Given the description of an element on the screen output the (x, y) to click on. 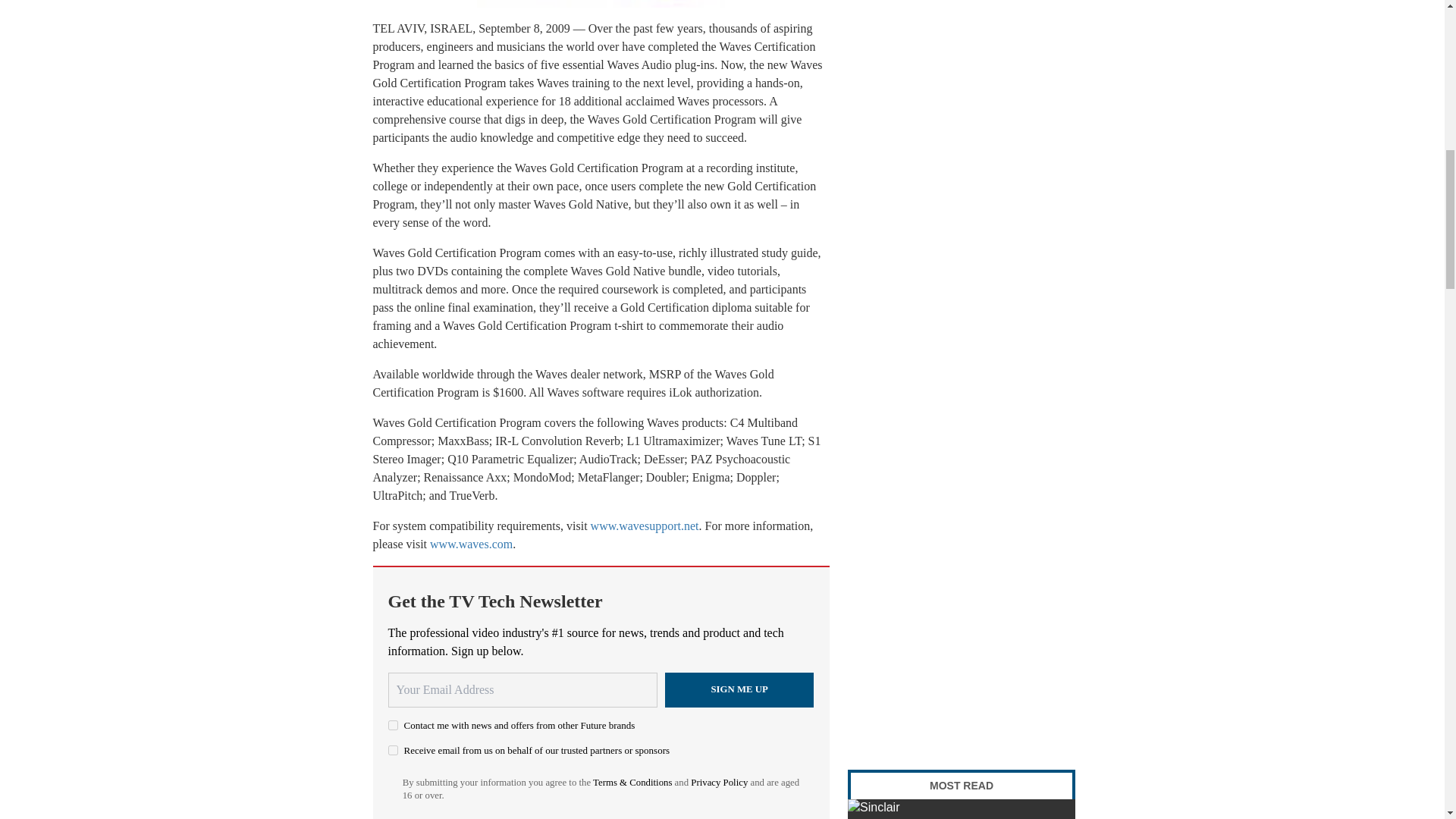
Sign me up (739, 689)
on (392, 725)
Sign me up (739, 689)
Privacy Policy (719, 782)
Diamond Sports Renews Comcast Distribution Deal (961, 809)
on (392, 750)
www.waves.com (470, 543)
www.wavesupport.net (644, 525)
